Given the description of an element on the screen output the (x, y) to click on. 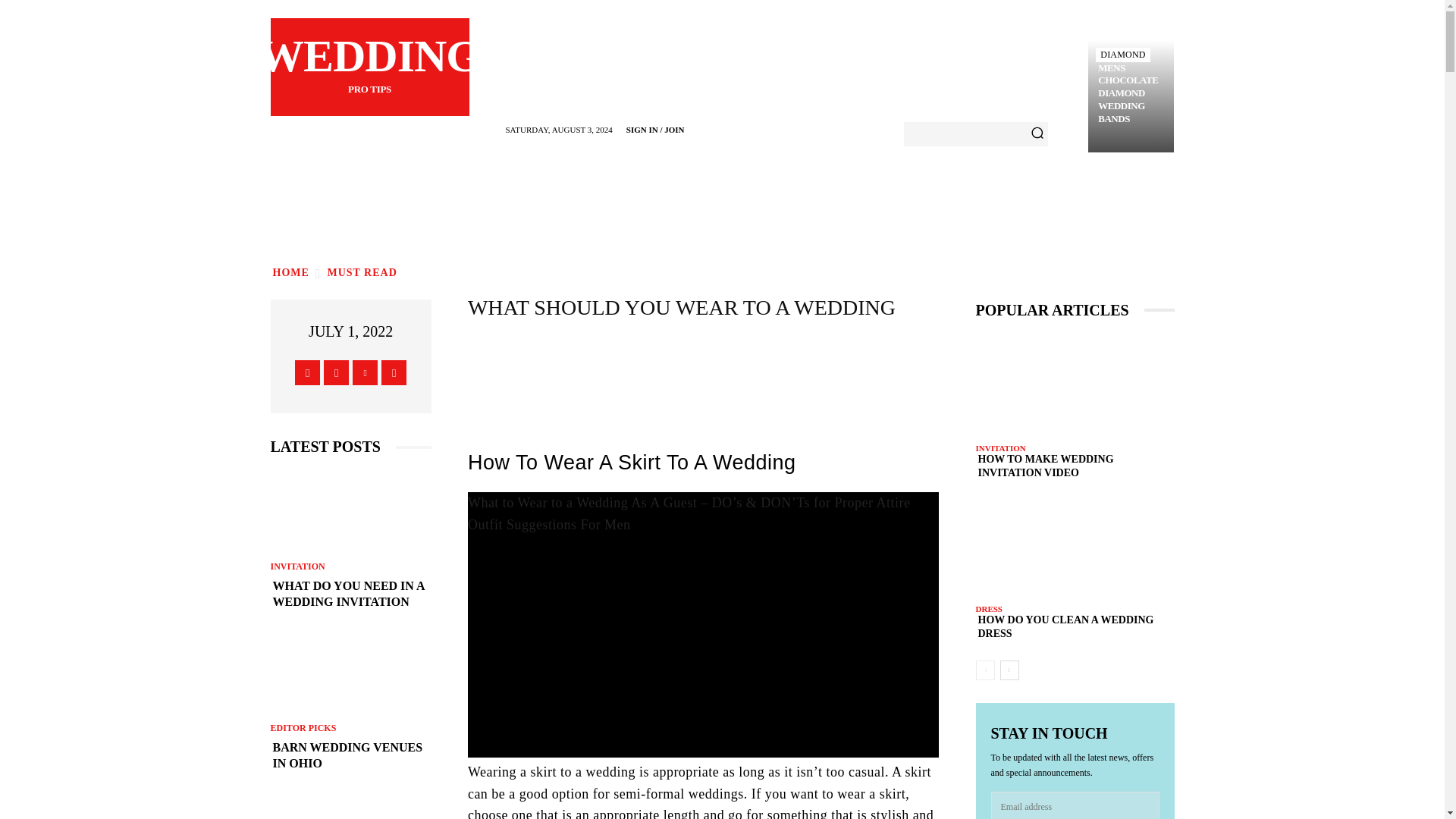
HOME (290, 273)
Barn Wedding Venues In Ohio (349, 673)
What Do You Buy For 10 Year Wedding Anniversary (349, 806)
View all posts in Must Read (361, 273)
Barn Wedding Venues In Ohio (349, 756)
Instagram (336, 371)
Twitter (364, 371)
Mens Chocolate Diamond Wedding Bands (1131, 94)
DIAMOND (1123, 54)
What Do You Need In A Wedding Invitation (349, 594)
MUST READ (368, 66)
Facebook (361, 273)
MENS CHOCOLATE DIAMOND WEDDING BANDS (307, 371)
What Do You Need In A Wedding Invitation (1131, 94)
